Given the description of an element on the screen output the (x, y) to click on. 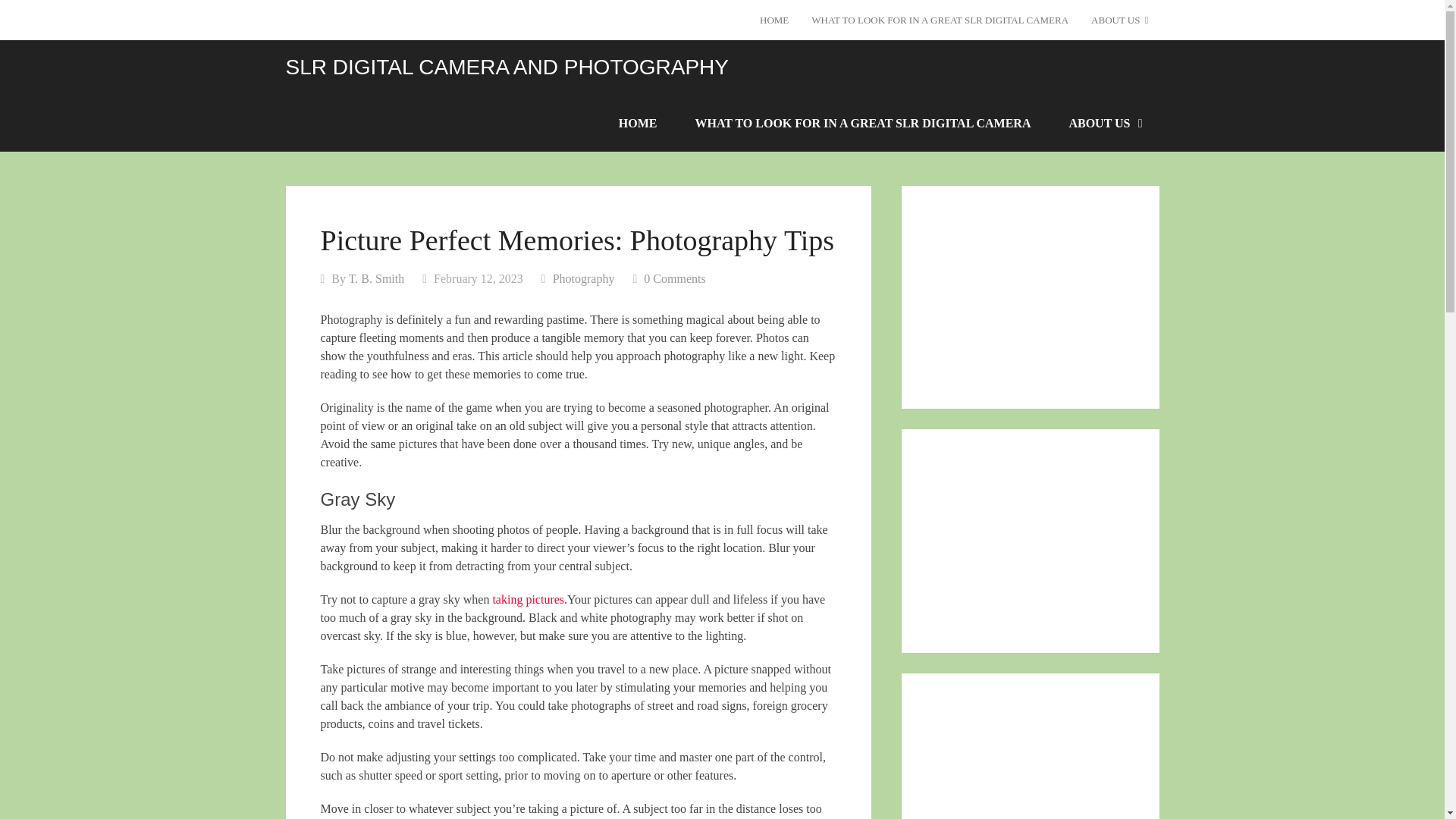
Photography (583, 278)
WHAT TO LOOK FOR IN A GREAT SLR DIGITAL CAMERA (863, 123)
taking pictures (528, 599)
SLR DIGITAL CAMERA AND PHOTOGRAPHY (507, 66)
HOME (638, 123)
HOME (773, 20)
0 Comments (673, 278)
T. B. Smith (376, 278)
ABOUT US (1103, 123)
WHAT TO LOOK FOR IN A GREAT SLR DIGITAL CAMERA (939, 20)
